Given the description of an element on the screen output the (x, y) to click on. 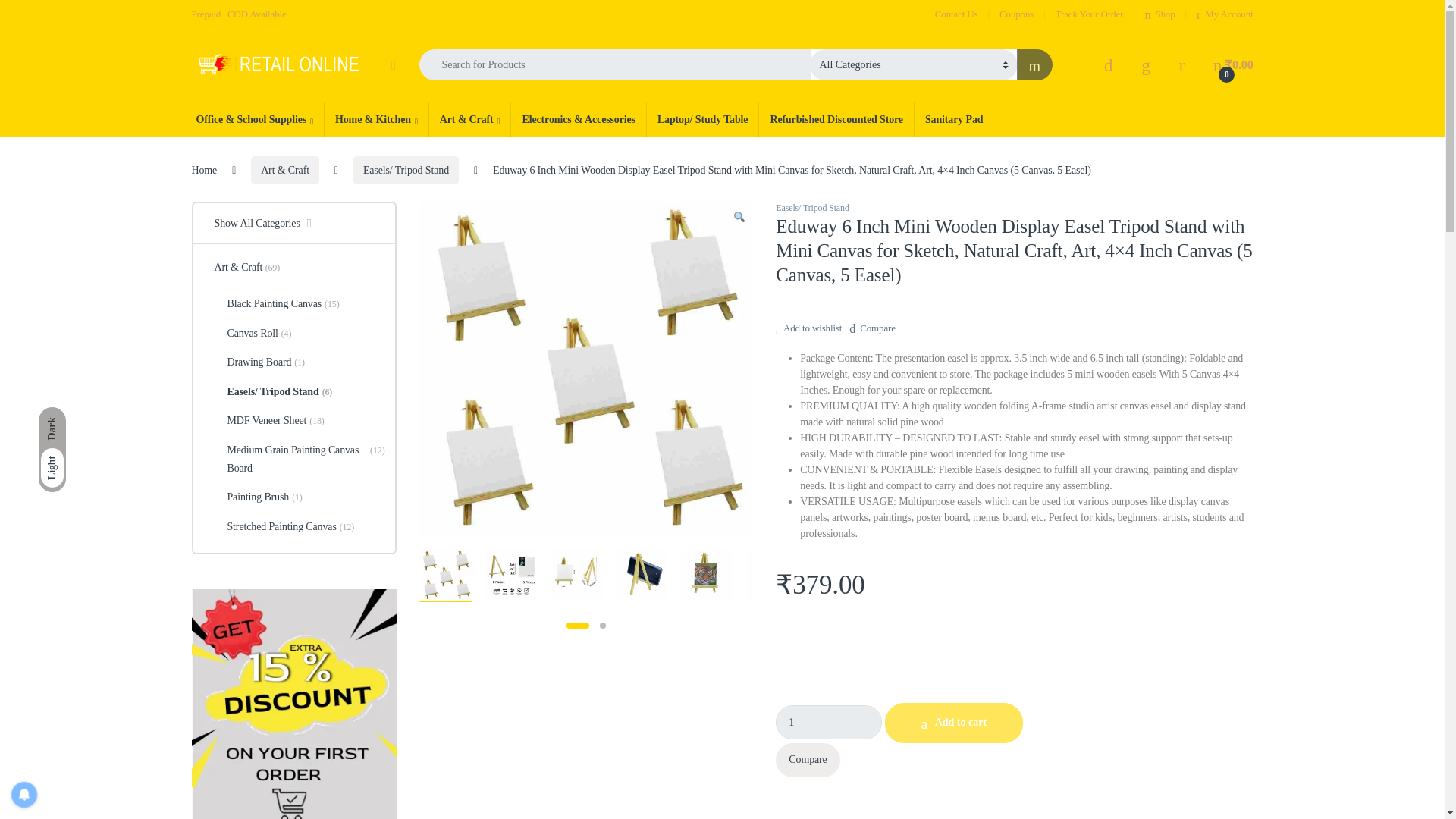
Track Your Order (1088, 13)
Contact Us (956, 13)
My Account (1224, 13)
1 (829, 722)
Shop (1159, 13)
My Account (1224, 13)
Track Your Order (1088, 13)
Shop (1159, 13)
Coupons (1015, 13)
Coupons (1015, 13)
Contact Us (956, 13)
